Given the description of an element on the screen output the (x, y) to click on. 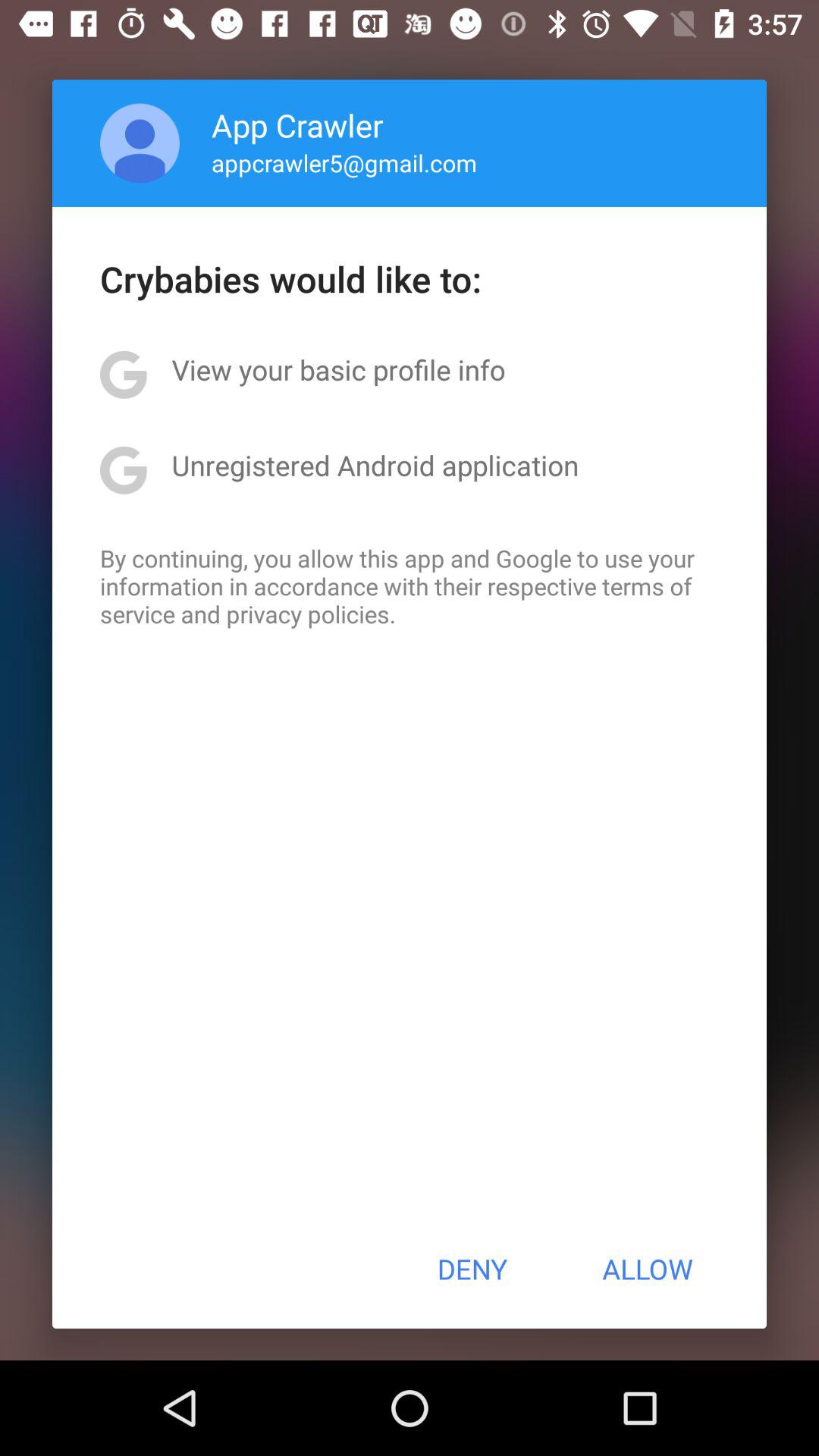
select the item to the left of the app crawler icon (139, 143)
